Given the description of an element on the screen output the (x, y) to click on. 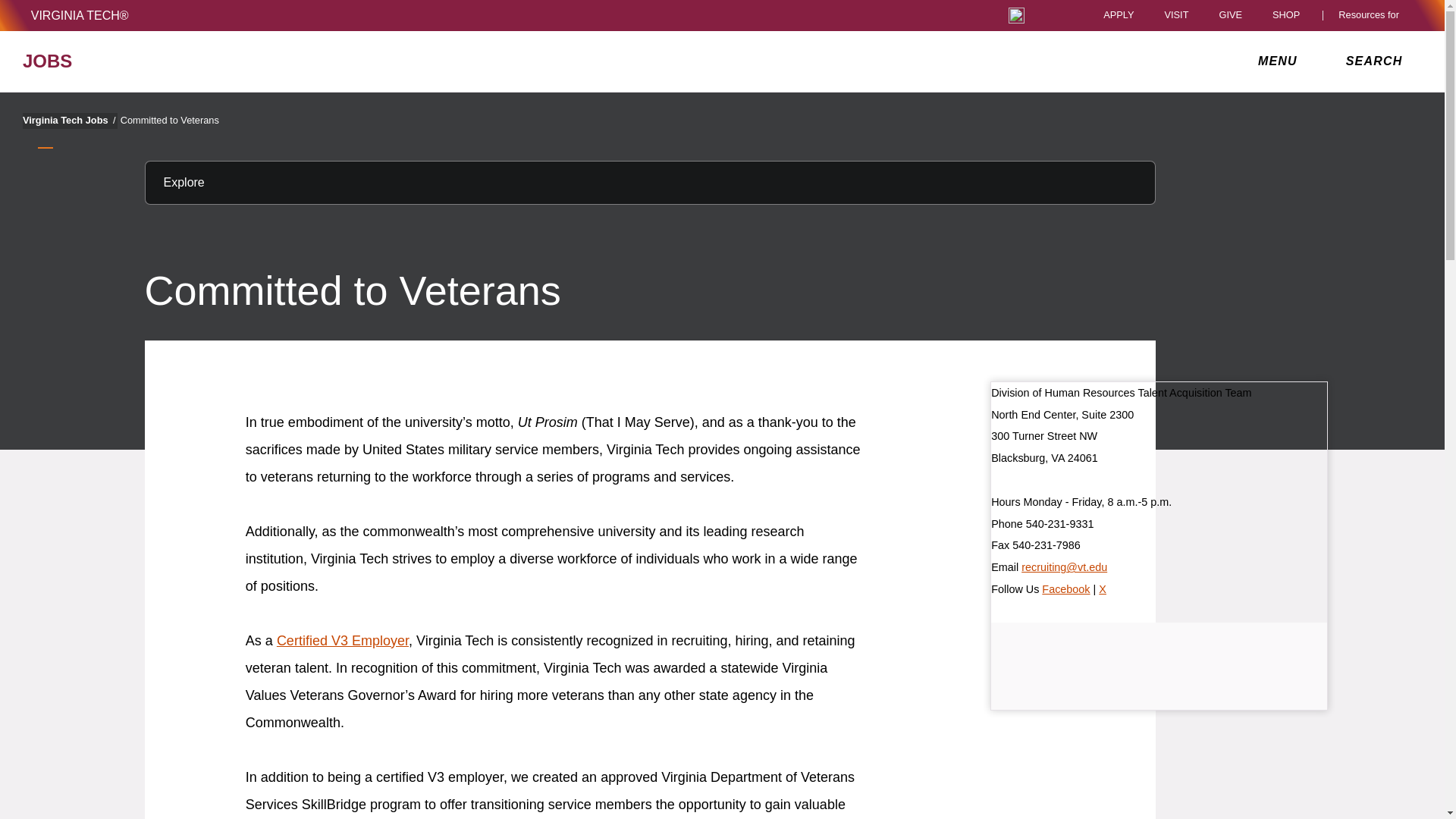
GIVE (1229, 15)
Resources for (1372, 15)
Universal Access Toggle (1017, 15)
JOBS (250, 60)
APPLY (1118, 15)
VISIT (1175, 15)
SHOP (1289, 15)
MENU (1280, 61)
